Given the description of an element on the screen output the (x, y) to click on. 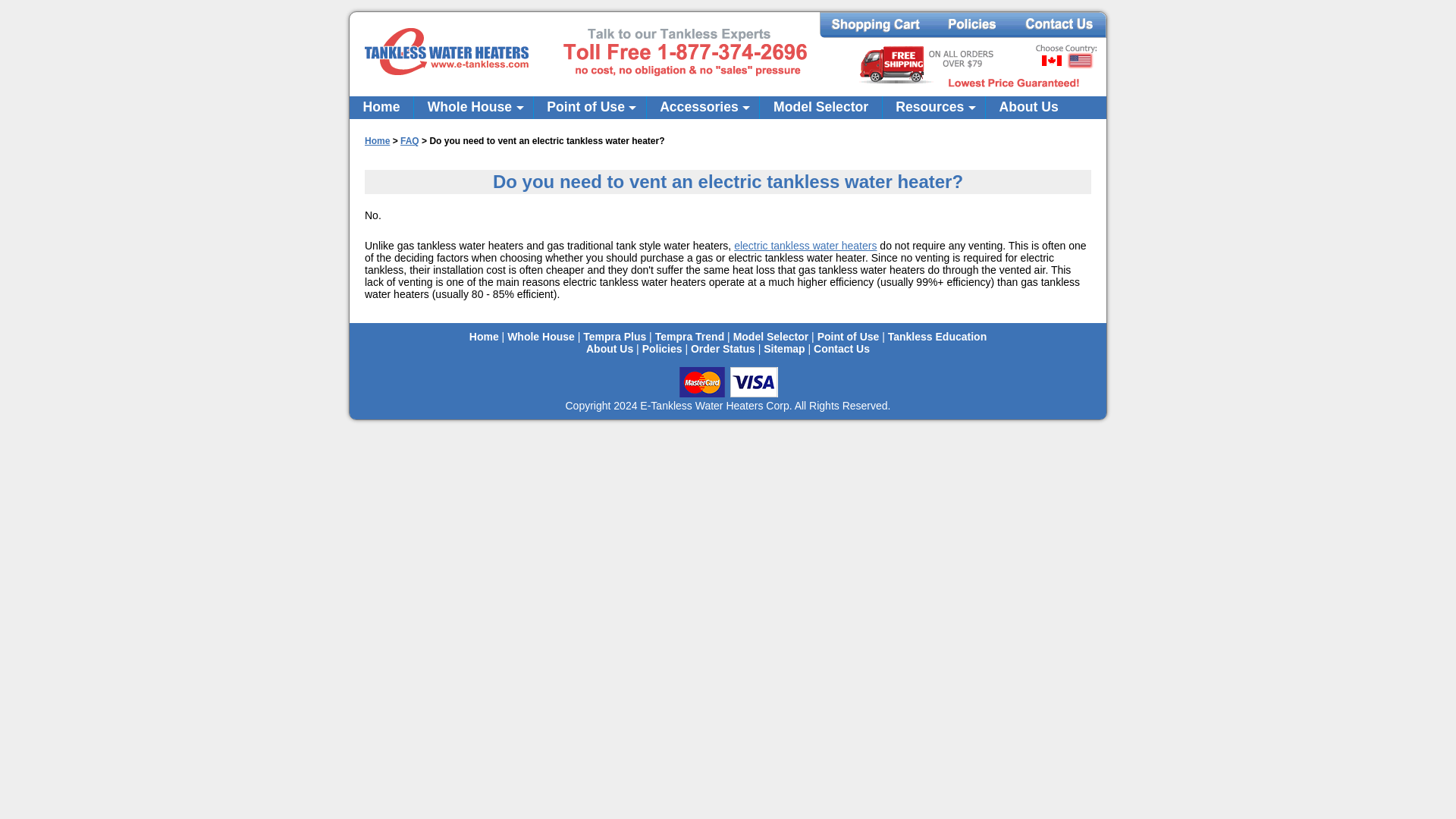
Point of Use (590, 107)
Home (381, 107)
Whole House (473, 107)
